Given the description of an element on the screen output the (x, y) to click on. 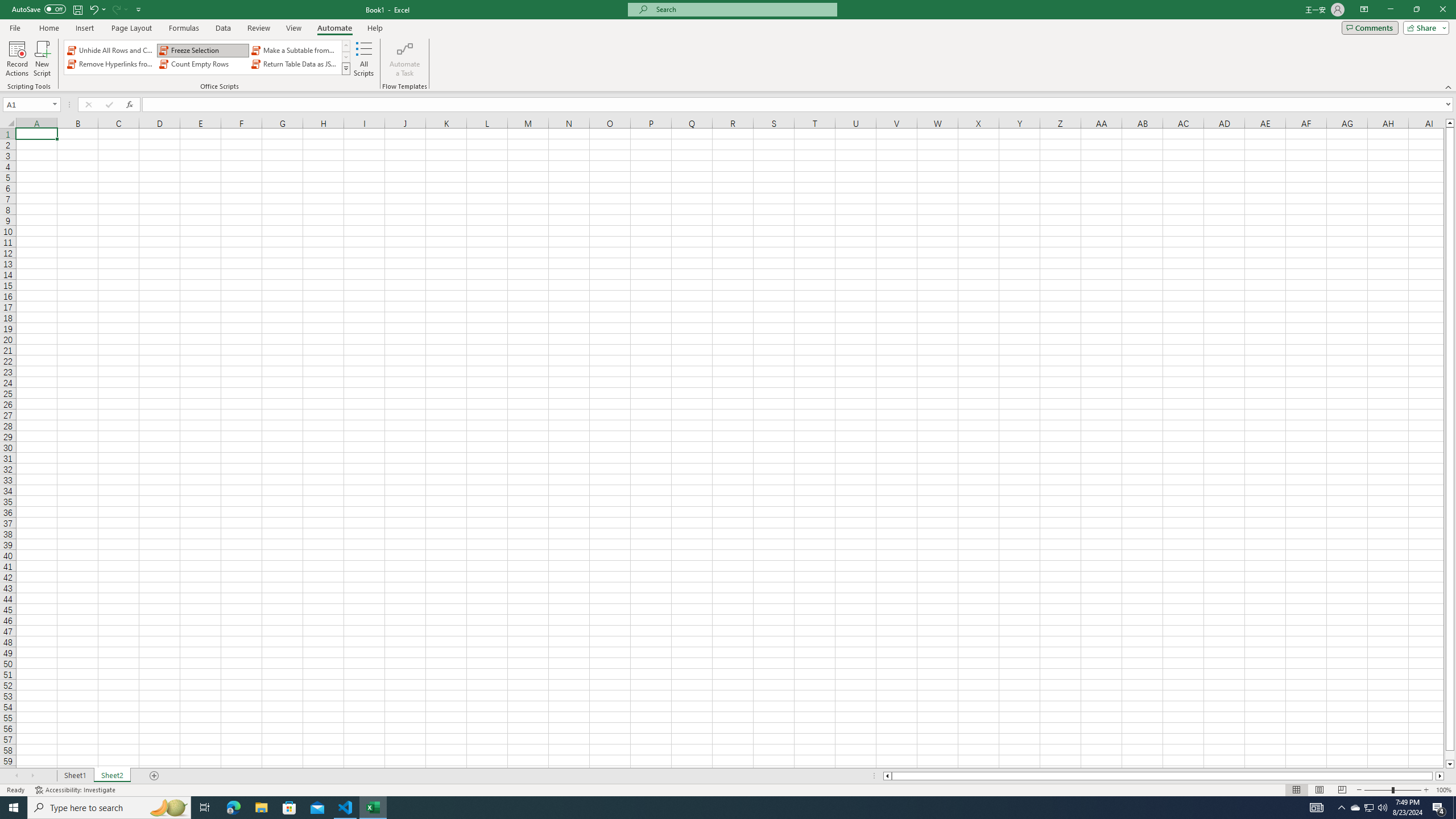
Share (1423, 27)
Home (48, 28)
Unhide All Rows and Columns (111, 50)
Open (54, 104)
Class: MsoCommandBar (728, 45)
New Script (41, 58)
Zoom In (1426, 790)
Automate (334, 28)
